Given the description of an element on the screen output the (x, y) to click on. 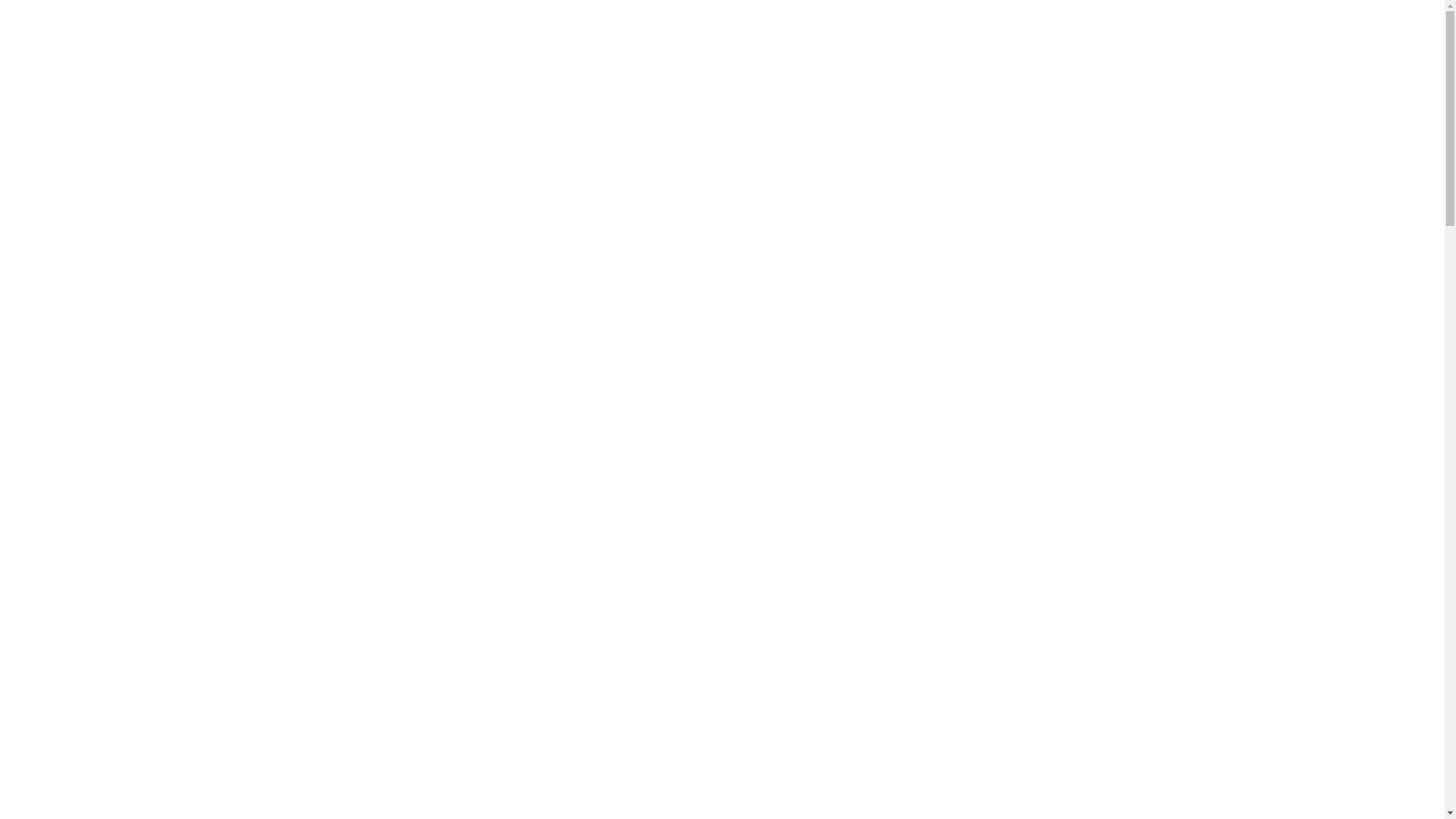
Cookies. Element type: text (1289, 662)
Datenschutz Element type: text (1279, 715)
Verstanden Element type: text (1225, 753)
Impressum Element type: text (65, 735)
Datenschutz Element type: text (117, 735)
ayoungdesign Element type: text (143, 667)
Beschwerden Element type: text (172, 735)
Home Element type: text (191, 261)
Beratungsansatz Anlagen bei Ihrem KBC Versicherungsagent Element type: text (121, 771)
087 55 66 88 Element type: text (371, 72)
Kontakt Element type: text (187, 347)
Infos Element type: text (193, 319)
